Given the description of an element on the screen output the (x, y) to click on. 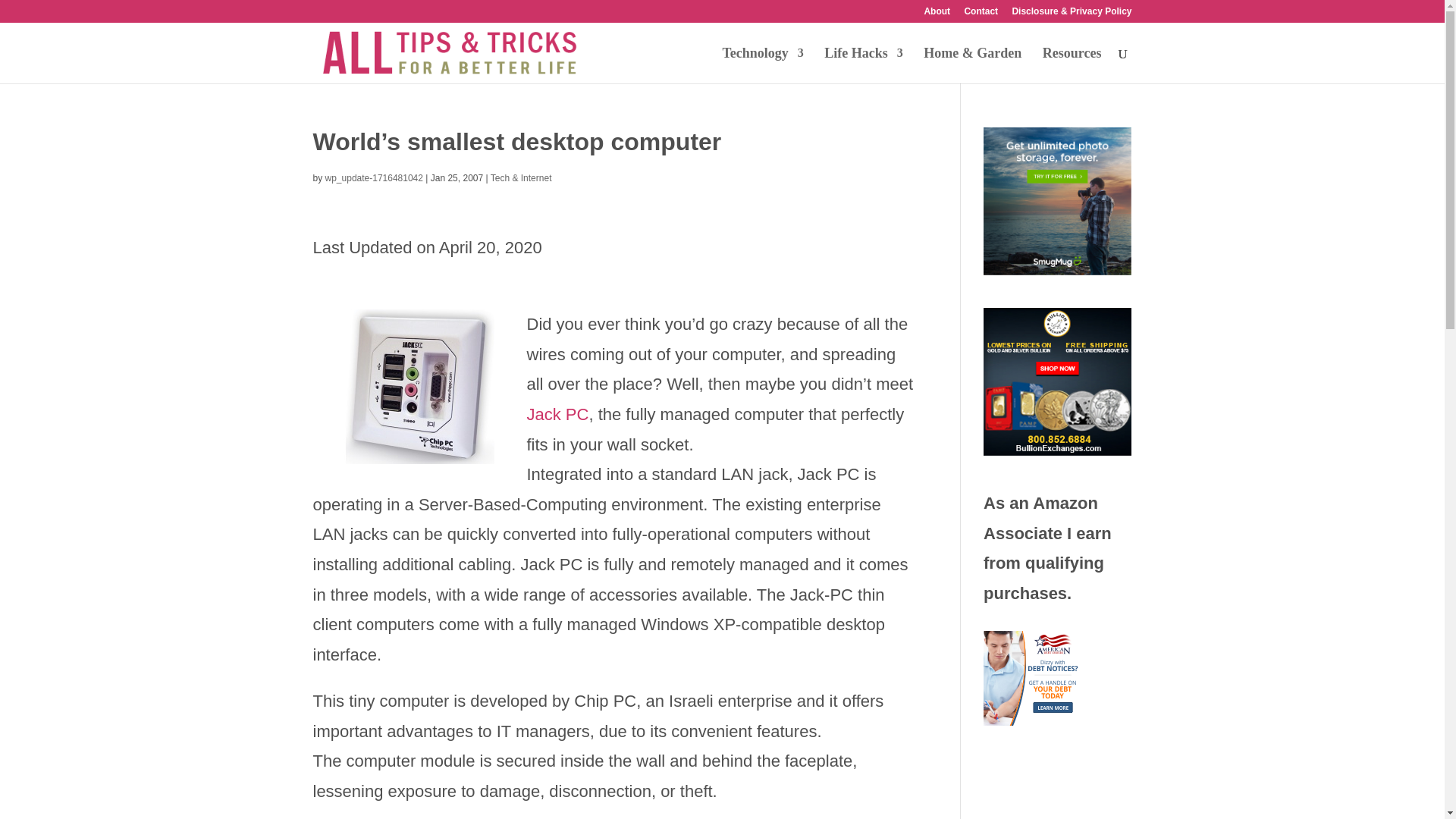
Technology (762, 65)
Resources (1072, 65)
Contact (980, 14)
Life Hacks (863, 65)
About (936, 14)
Jack PC (556, 414)
